Given the description of an element on the screen output the (x, y) to click on. 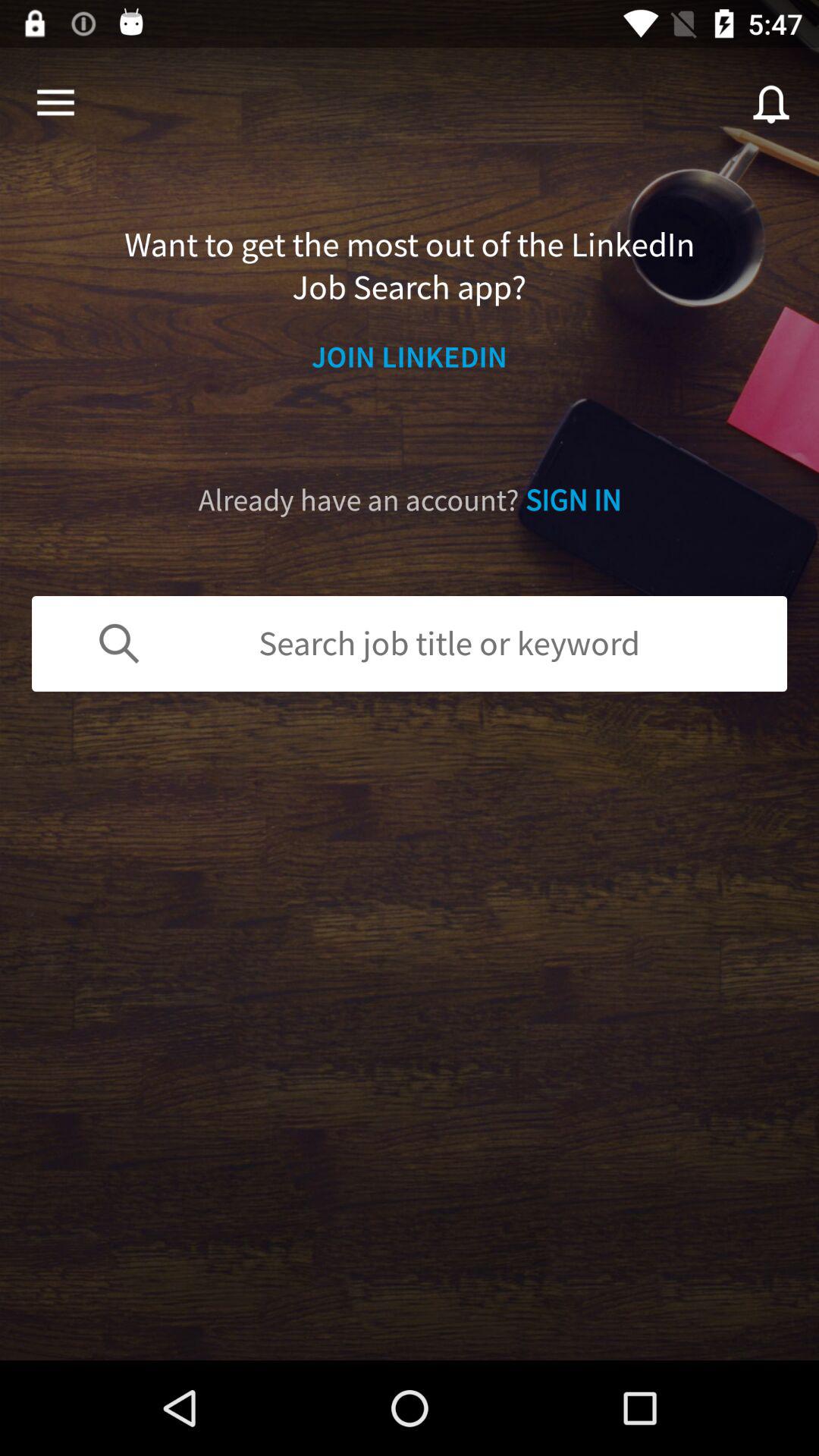
launch join linkedin icon (409, 356)
